Given the description of an element on the screen output the (x, y) to click on. 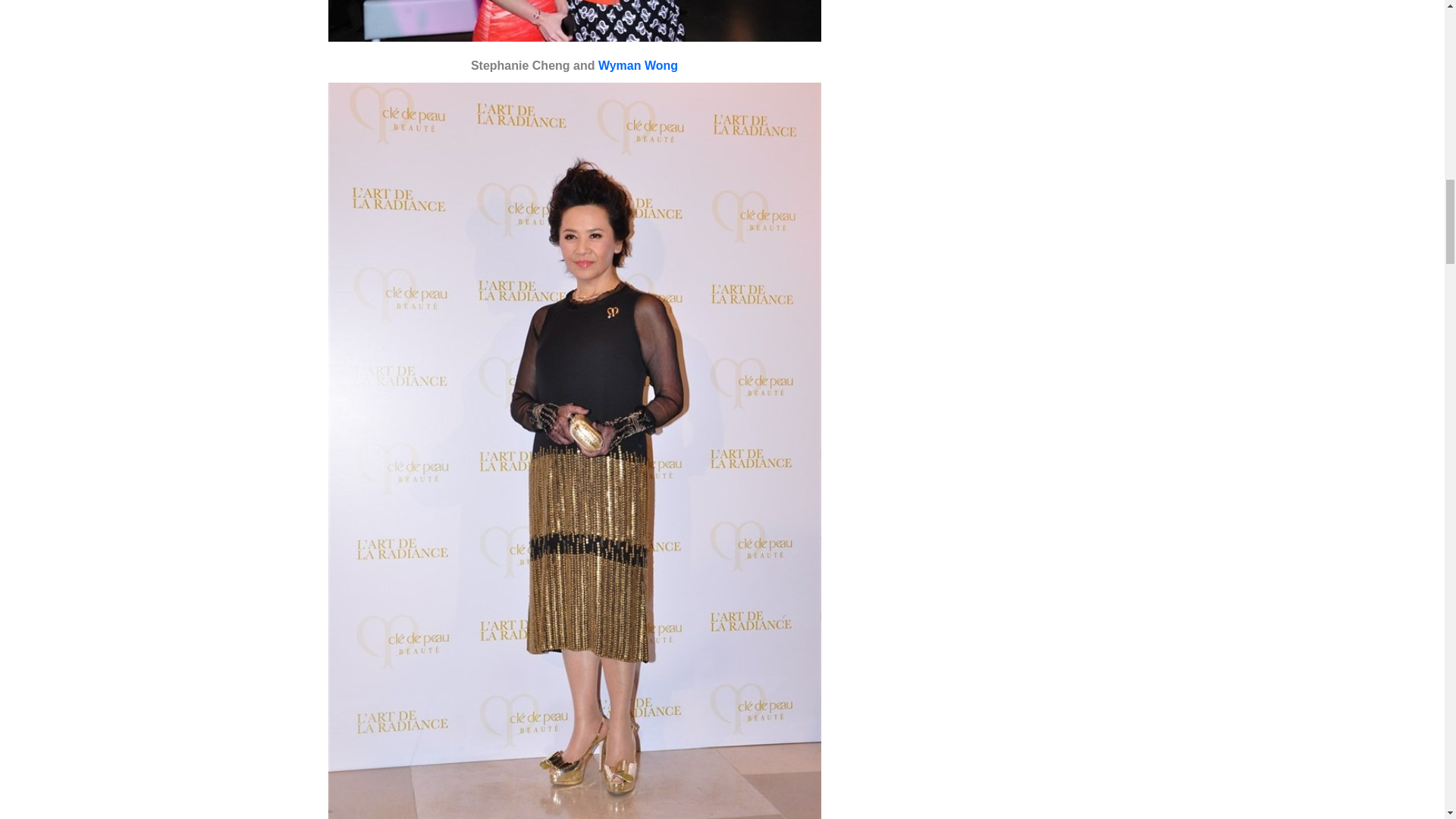
Wyman Wong (638, 65)
